Given the description of an element on the screen output the (x, y) to click on. 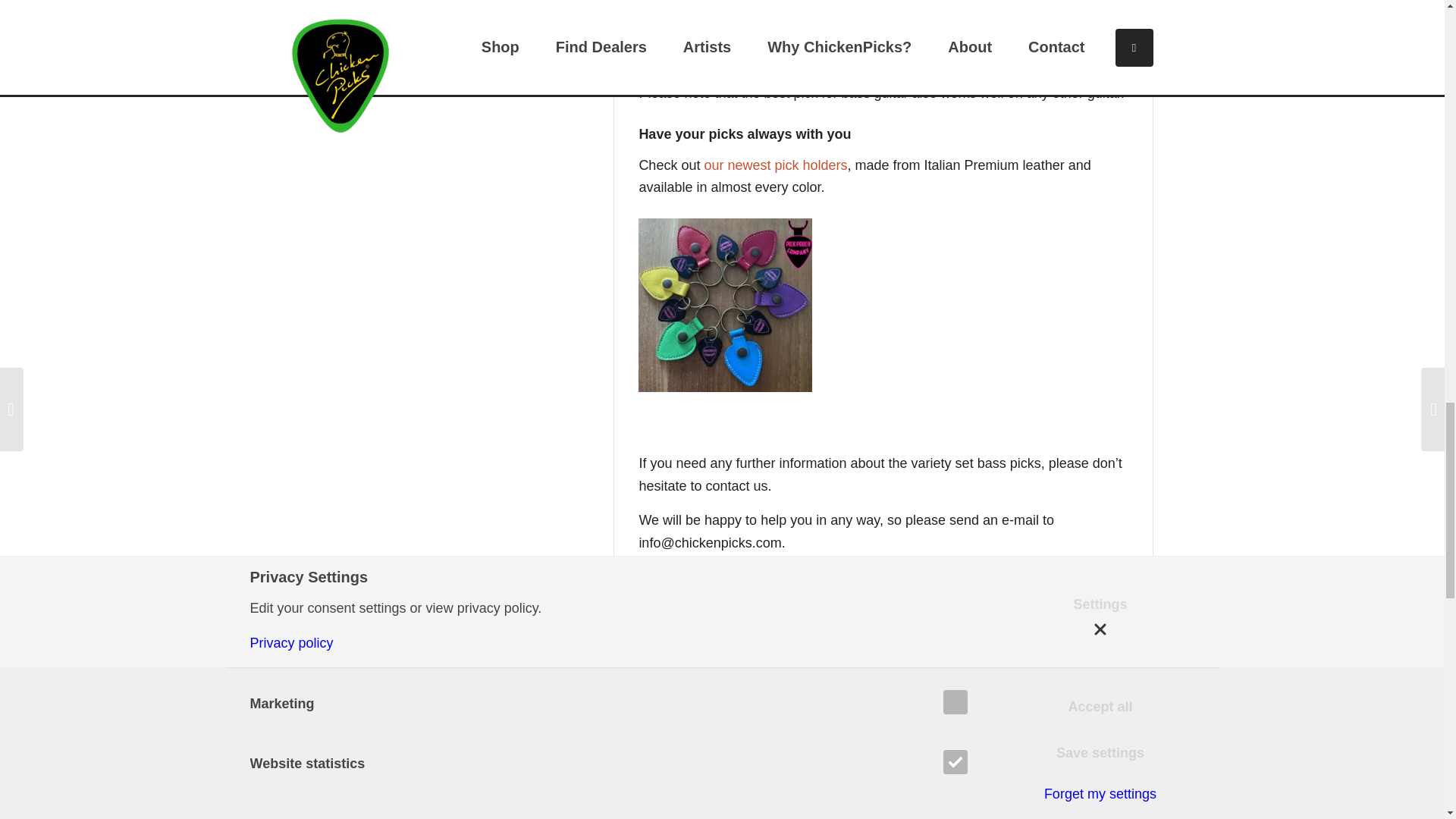
Guitar pick sizing chart for all models (760, 611)
our newest pick holders (775, 165)
all different plectrum models (766, 48)
